Given the description of an element on the screen output the (x, y) to click on. 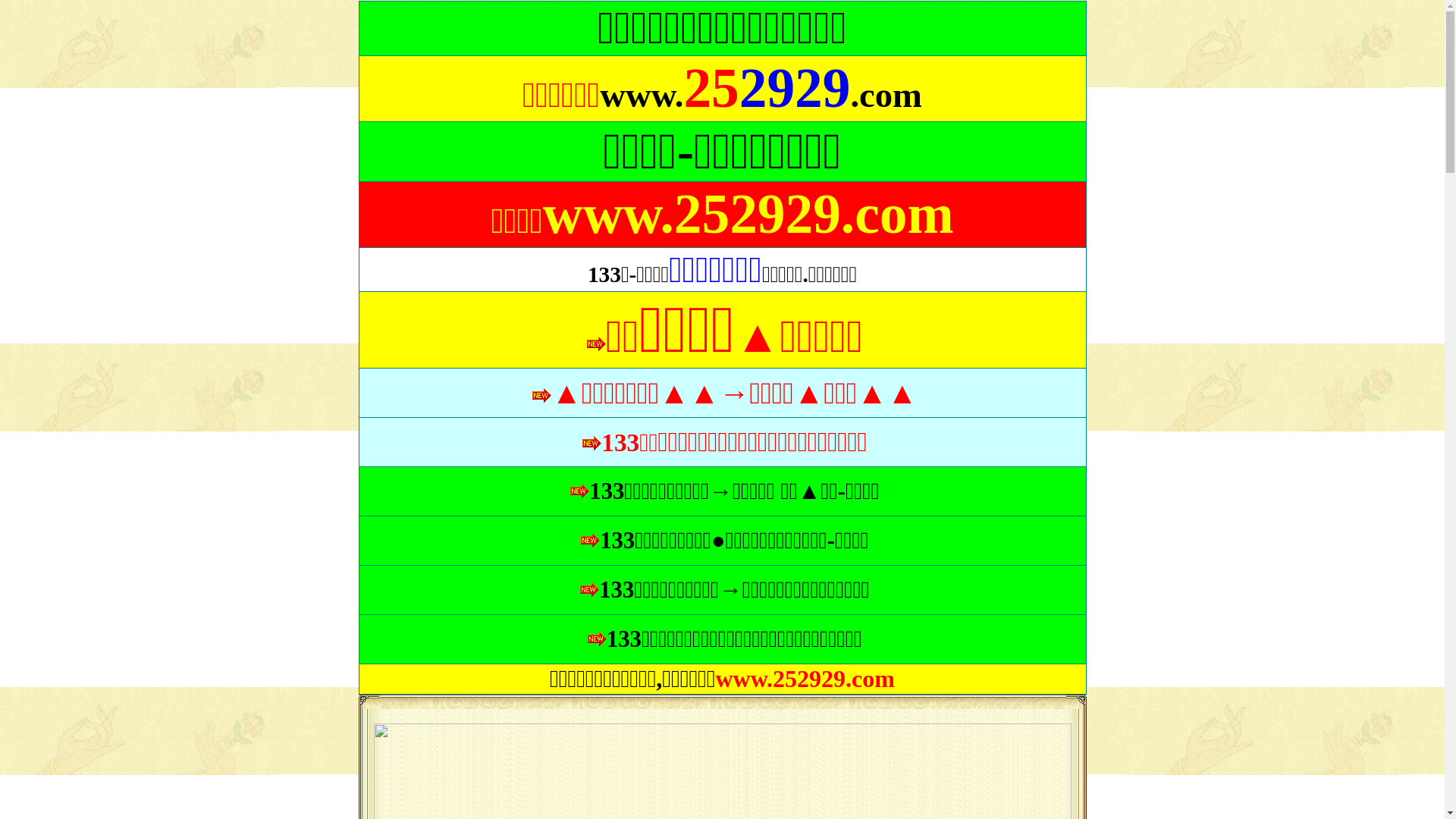
.com Element type: text (886, 97)
